Given the description of an element on the screen output the (x, y) to click on. 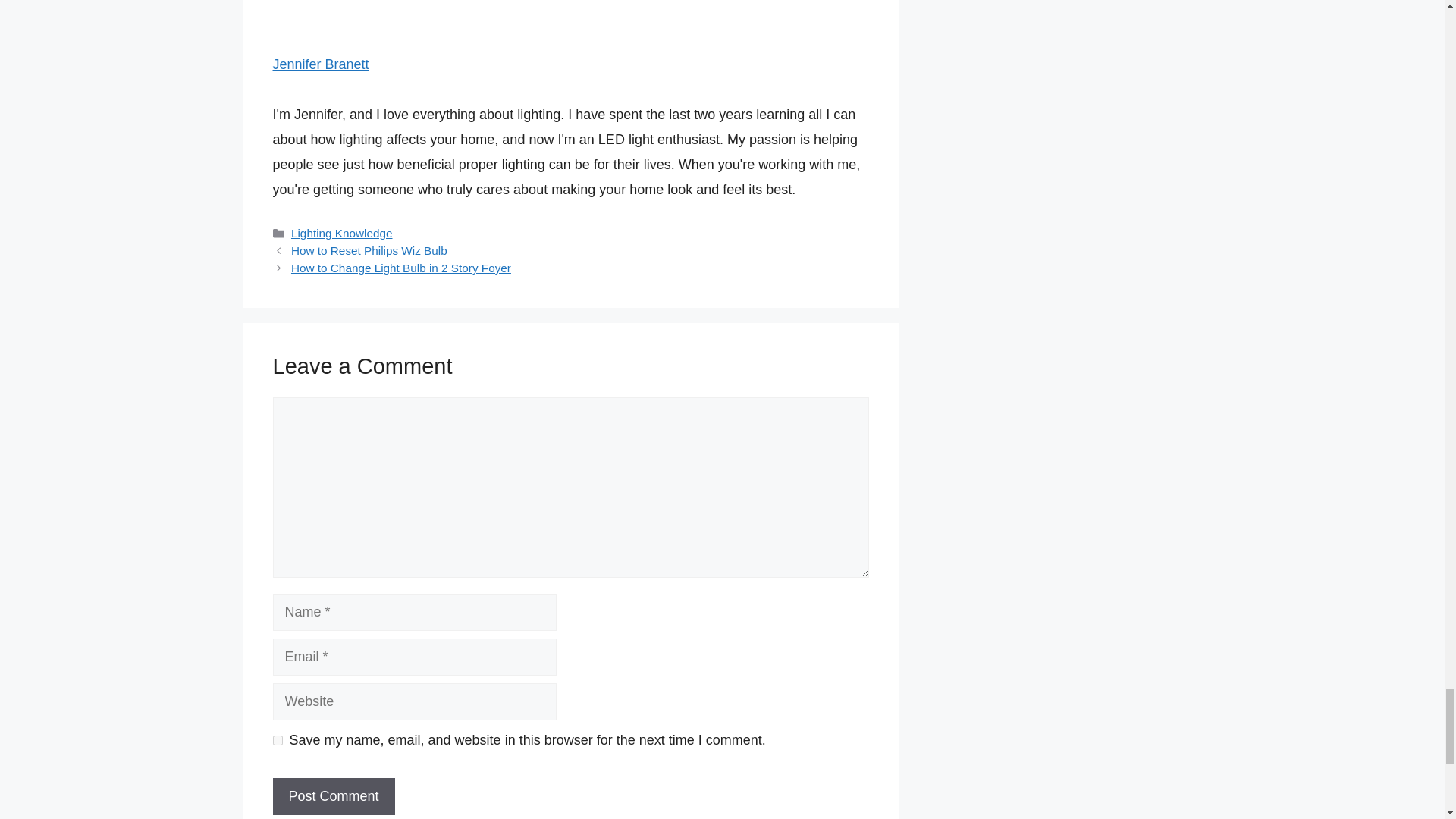
How to Reset Philips Wiz Bulb (368, 250)
Post Comment (333, 796)
How to Change Light Bulb in 2 Story Foyer (401, 267)
Post Comment (333, 796)
Jennifer Branett (321, 64)
yes (277, 740)
Lighting Knowledge (342, 232)
